Given the description of an element on the screen output the (x, y) to click on. 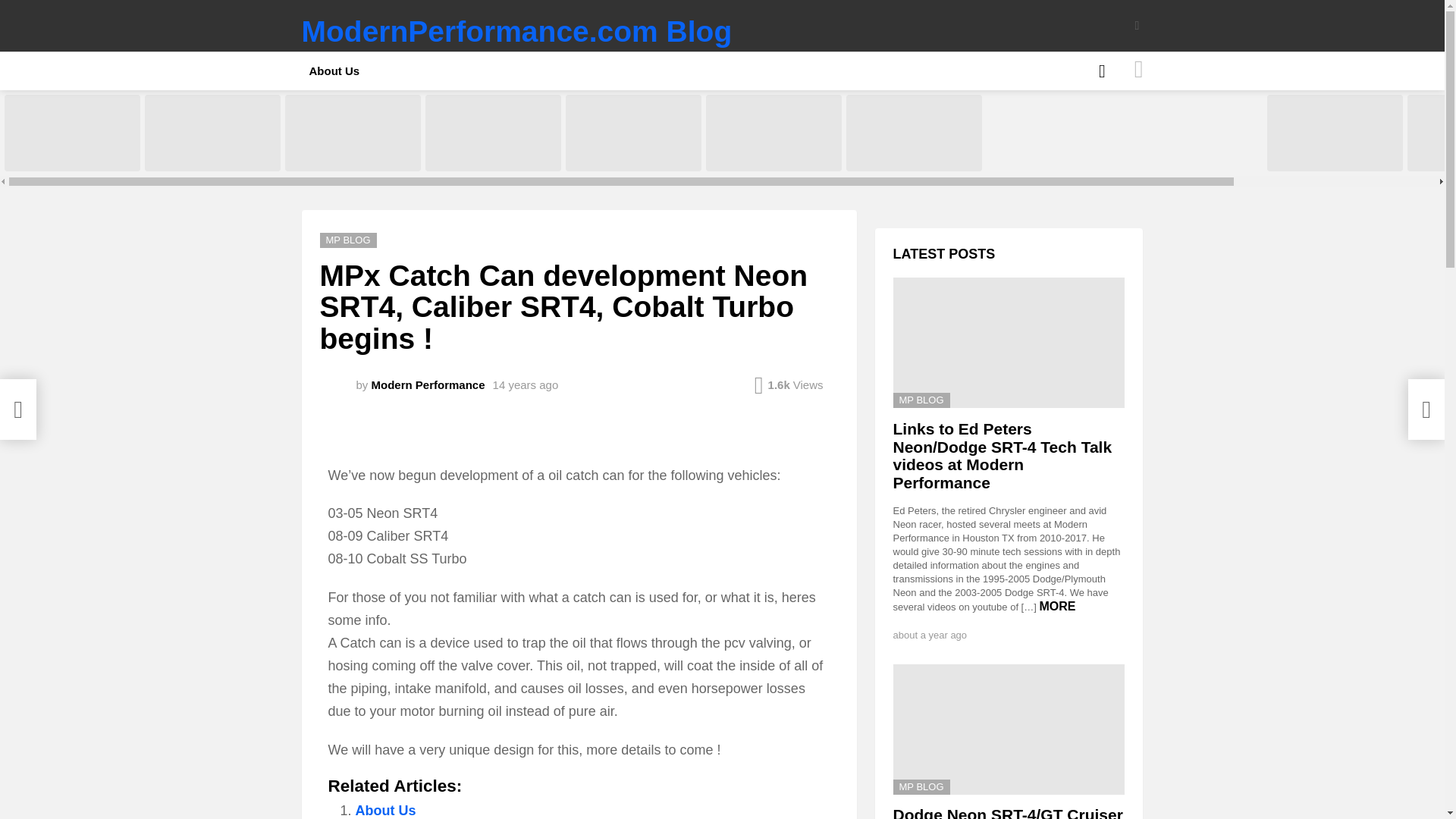
About Us (334, 70)
About Us (384, 810)
About Us (384, 810)
Posts by Modern Performance (427, 384)
MP BLOG (348, 240)
Now this is a PT Cruiser we would love to drive. (633, 133)
March 3, 2010, 8:00 am (526, 385)
Dodge Neon SRT-4 in the Czech Republic! (913, 133)
ModernPerformance.com Blog (516, 31)
